Given the description of an element on the screen output the (x, y) to click on. 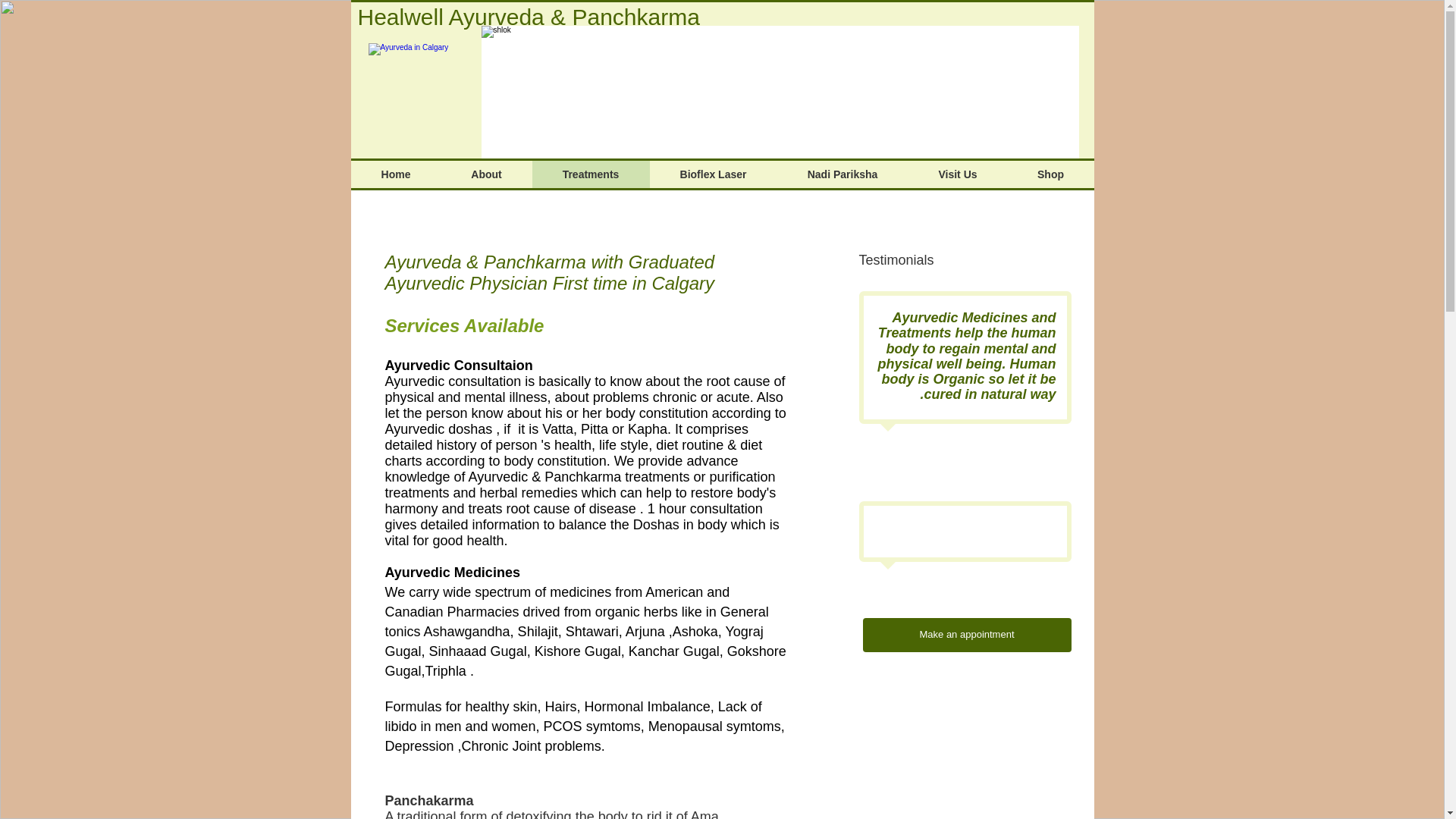
Nadi Pariksha (841, 174)
Ayurvedic Treatments (416, 91)
Home (395, 174)
Treatments (590, 174)
apha. It (659, 428)
Make an appointment (967, 634)
Bioflex Laser (712, 174)
About (486, 174)
Visit Us (957, 174)
acute. Al (742, 396)
Shop (1050, 174)
